Given the description of an element on the screen output the (x, y) to click on. 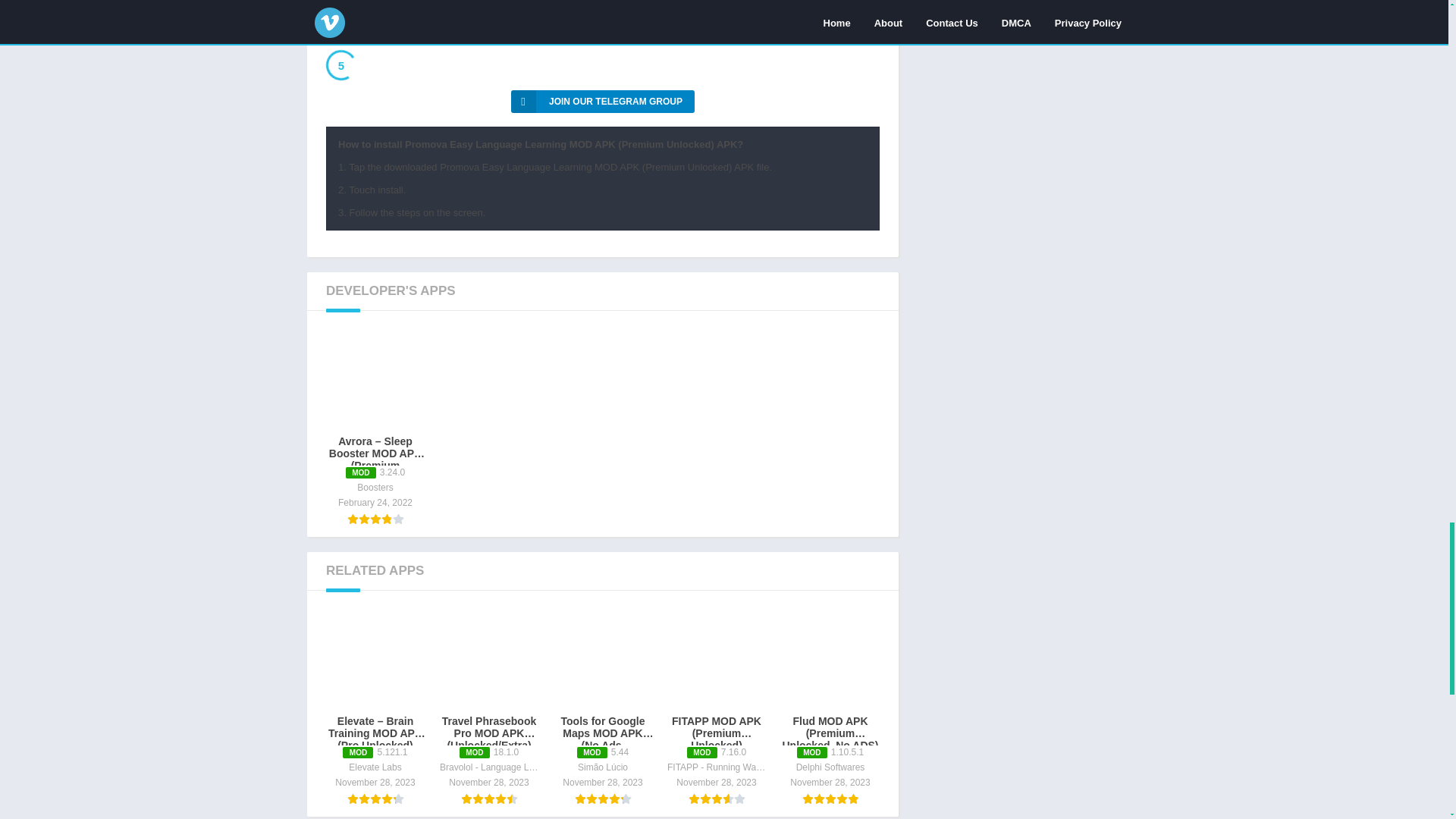
JOIN OUR TELEGRAM GROUP (602, 101)
